Given the description of an element on the screen output the (x, y) to click on. 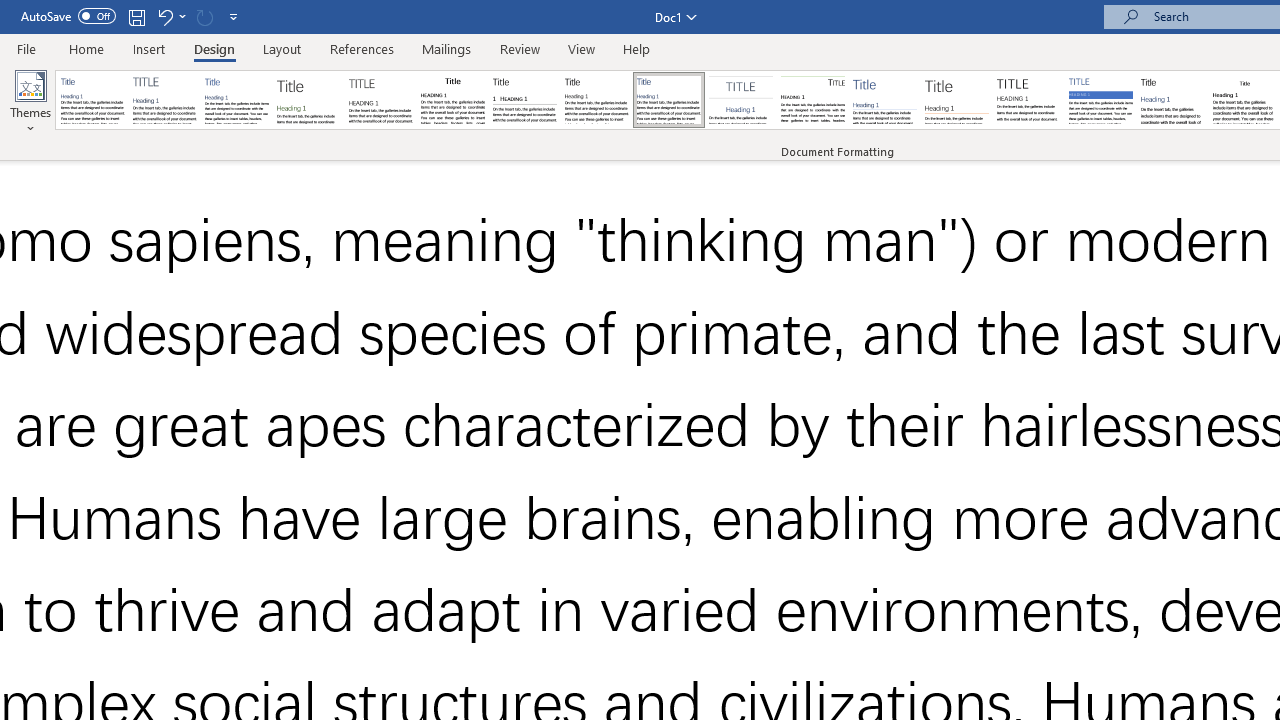
Lines (Stylish) (957, 100)
Word (1172, 100)
Basic (Simple) (236, 100)
Black & White (Classic) (452, 100)
Home (86, 48)
References (362, 48)
Document (93, 100)
AutoSave (68, 16)
